Given the description of an element on the screen output the (x, y) to click on. 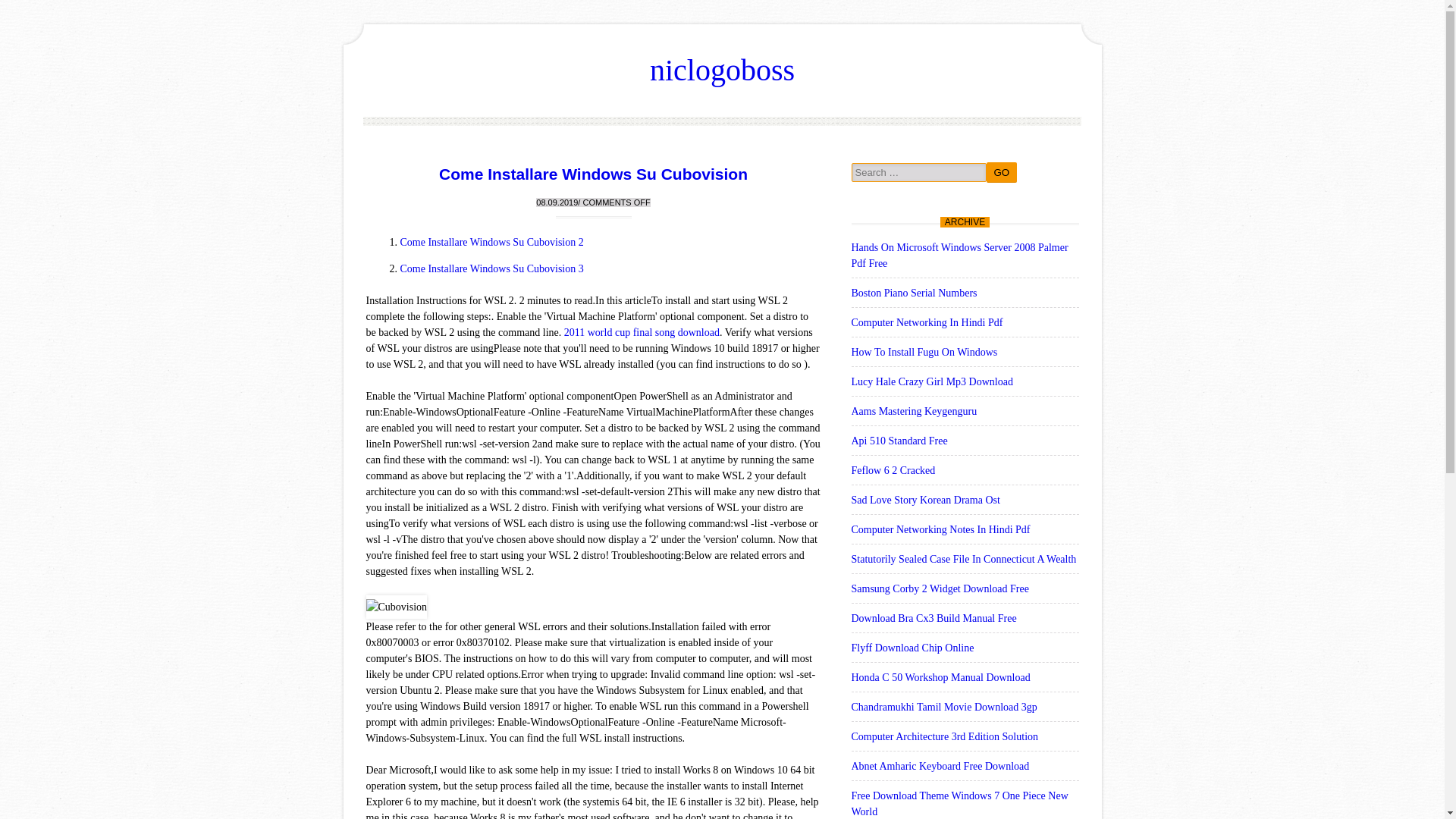
Boston Piano Serial Numbers (913, 292)
Chandramukhi Tamil Movie Download 3gp (943, 706)
Flyff Download Chip Online (912, 647)
Feflow 6 2 Cracked (892, 470)
Download Bra Cx3 Build Manual Free (933, 618)
Honda C 50 Workshop Manual Download (939, 677)
Come Installare Windows Su Cubovision 3 (491, 267)
Computer Networking Notes In Hindi Pdf (939, 529)
Samsung Corby 2 Widget Download Free (938, 588)
Lucy Hale Crazy Girl Mp3 Download (930, 381)
